Given the description of an element on the screen output the (x, y) to click on. 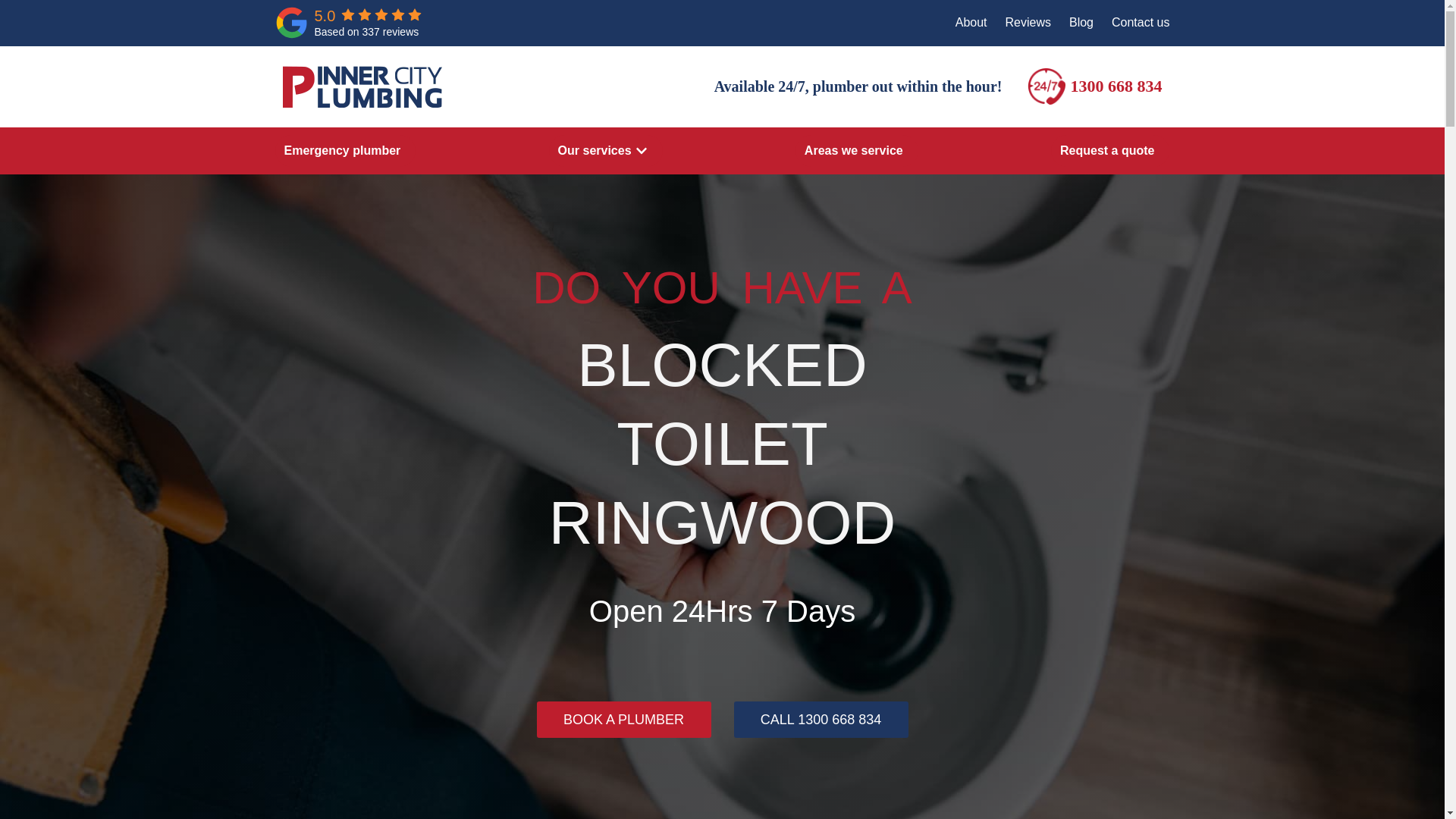
Emergency plumber (341, 150)
About (971, 22)
Blog (1080, 22)
1300 668 834 (1115, 85)
Our services (594, 150)
Reviews (1028, 22)
Request a quote (1106, 150)
Areas we service (853, 150)
BOOK A PLUMBER (624, 719)
Contact us (1140, 22)
